Given the description of an element on the screen output the (x, y) to click on. 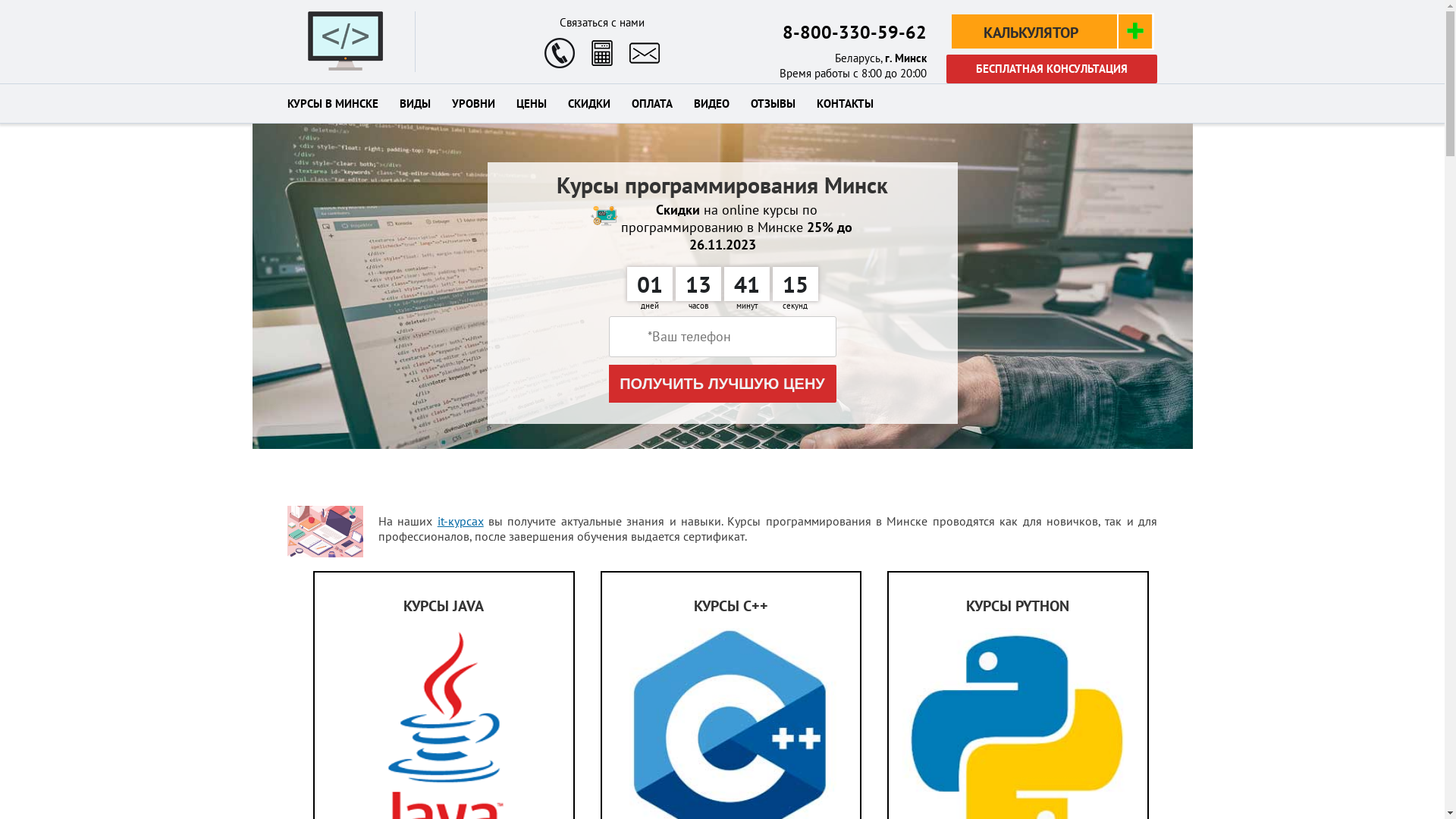
8-800-330-59-62 Element type: text (854, 31)
